Given the description of an element on the screen output the (x, y) to click on. 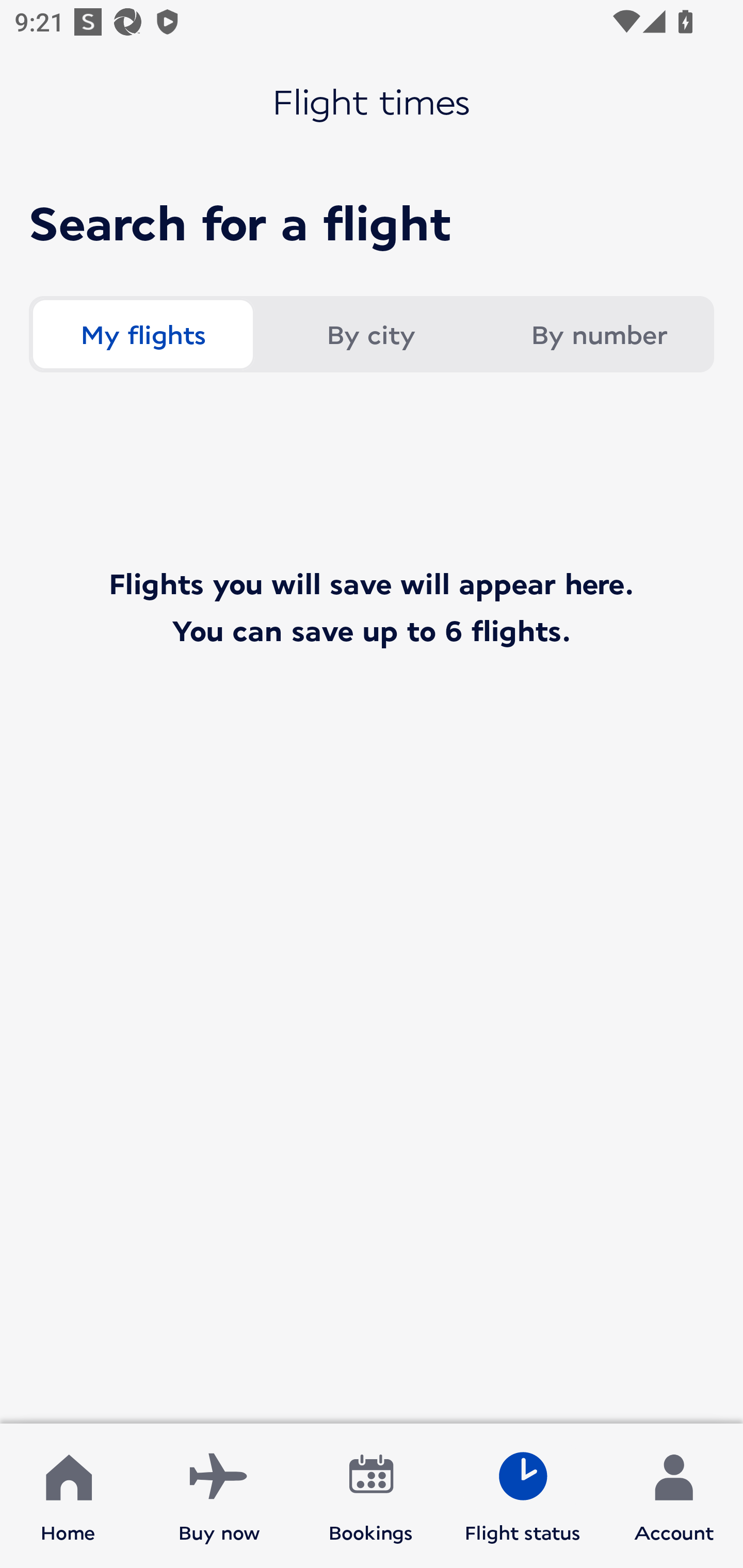
My flights (142, 334)
By city (370, 334)
By number (598, 334)
Home (68, 1495)
Buy now (219, 1495)
Bookings (370, 1495)
Account (674, 1495)
